Given the description of an element on the screen output the (x, y) to click on. 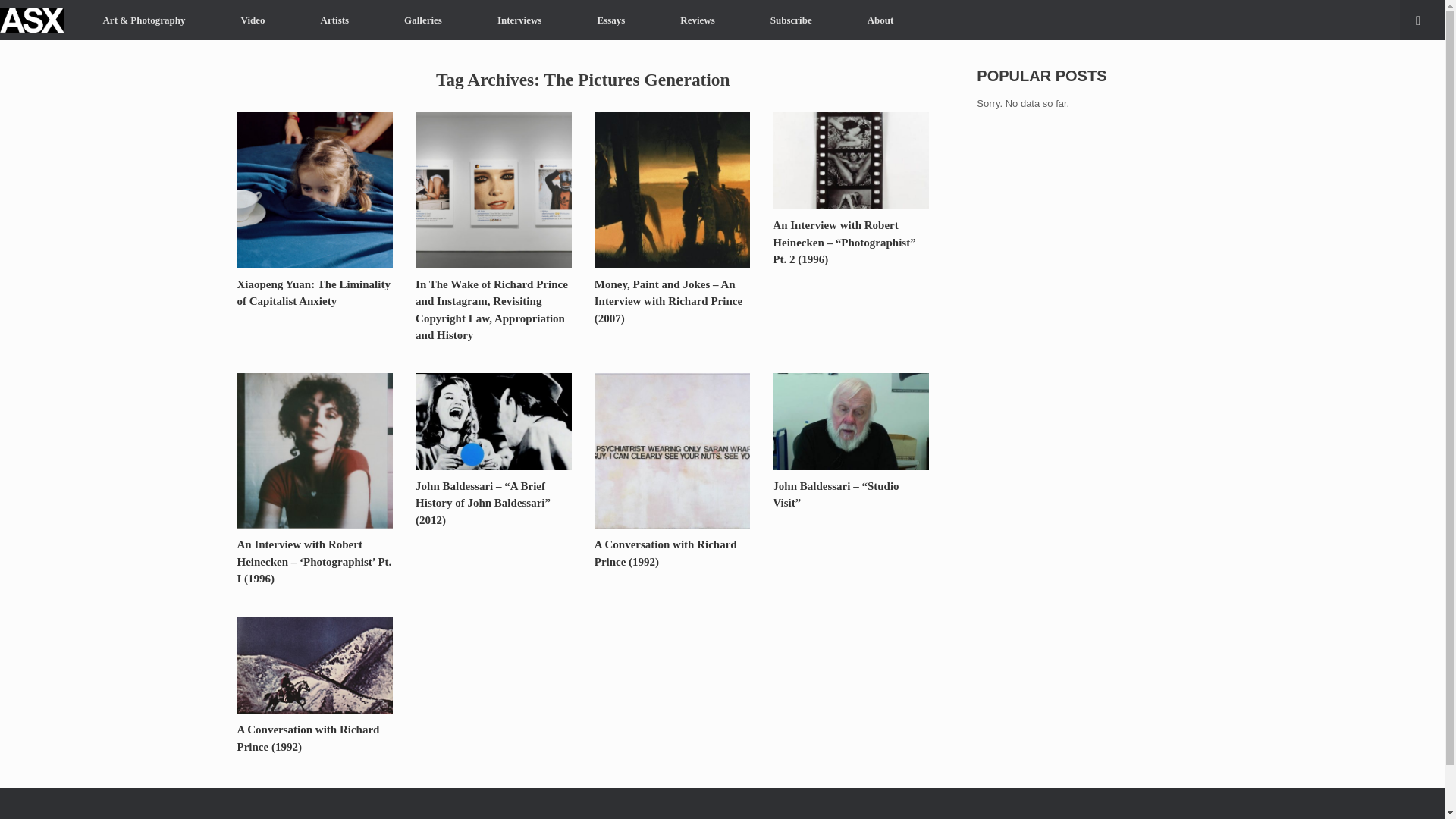
Artists (334, 20)
Interviews (519, 20)
Galleries (422, 20)
Subscribe (791, 20)
Essays (610, 20)
About (880, 20)
Video (253, 20)
AMERICAN SUBURB X (32, 20)
Reviews (697, 20)
